Given the description of an element on the screen output the (x, y) to click on. 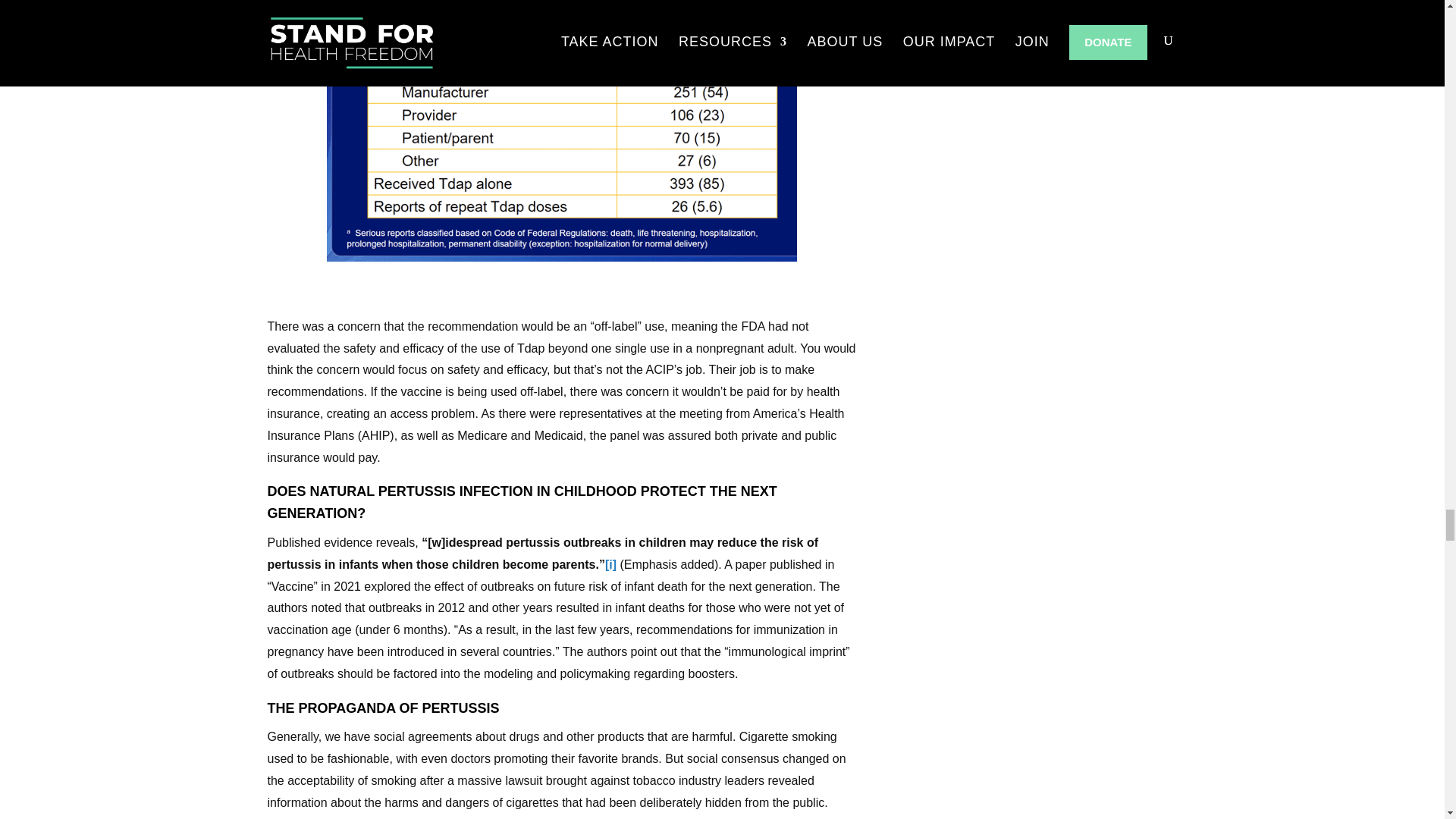
Screenshot 2023-07-19 at 10.19.55 PM (561, 130)
